Given the description of an element on the screen output the (x, y) to click on. 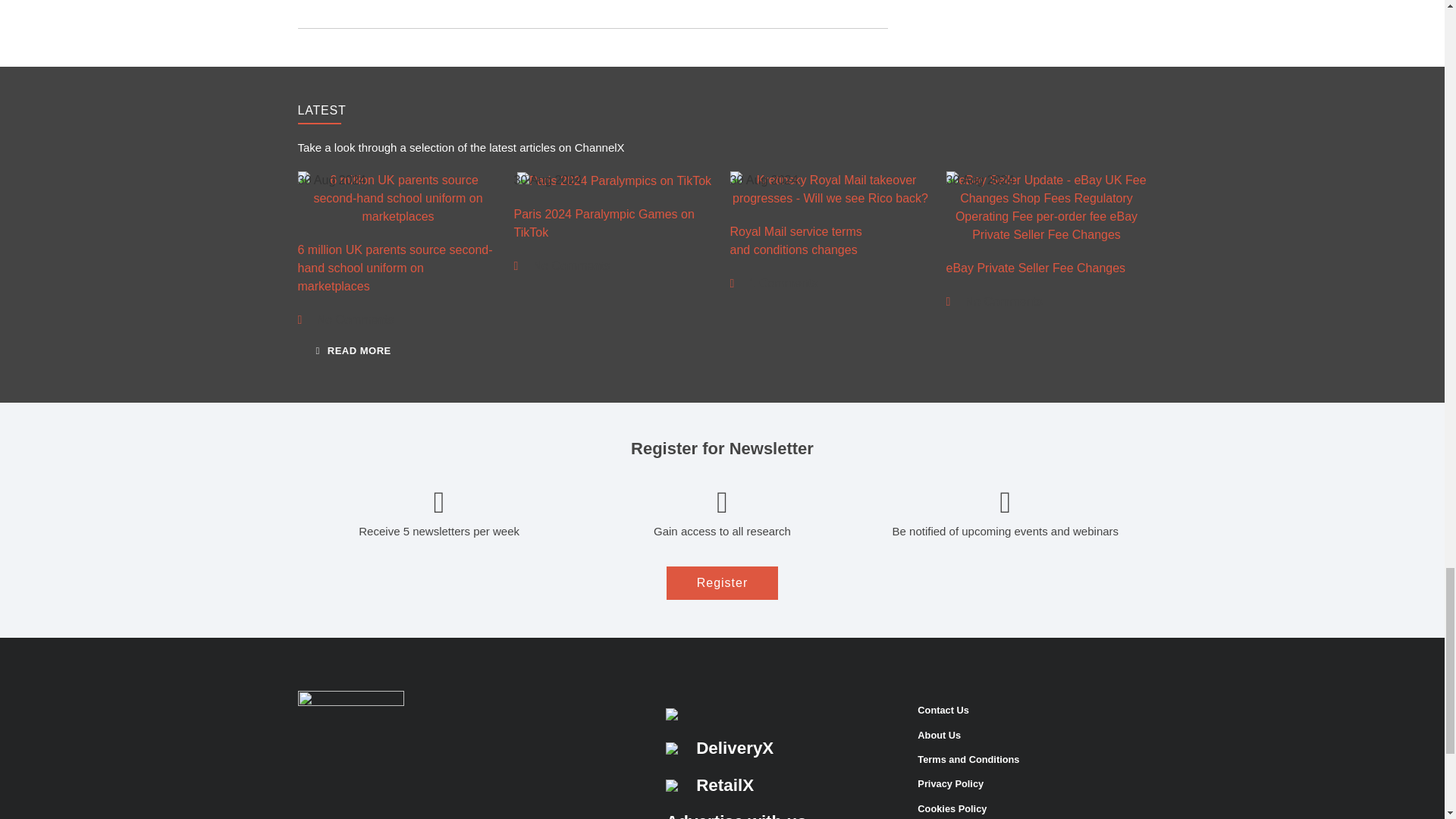
eBay-Seller-Release-Fees (1046, 207)
TikTok Teams-up with International Paralympic Committee (613, 180)
